Given the description of an element on the screen output the (x, y) to click on. 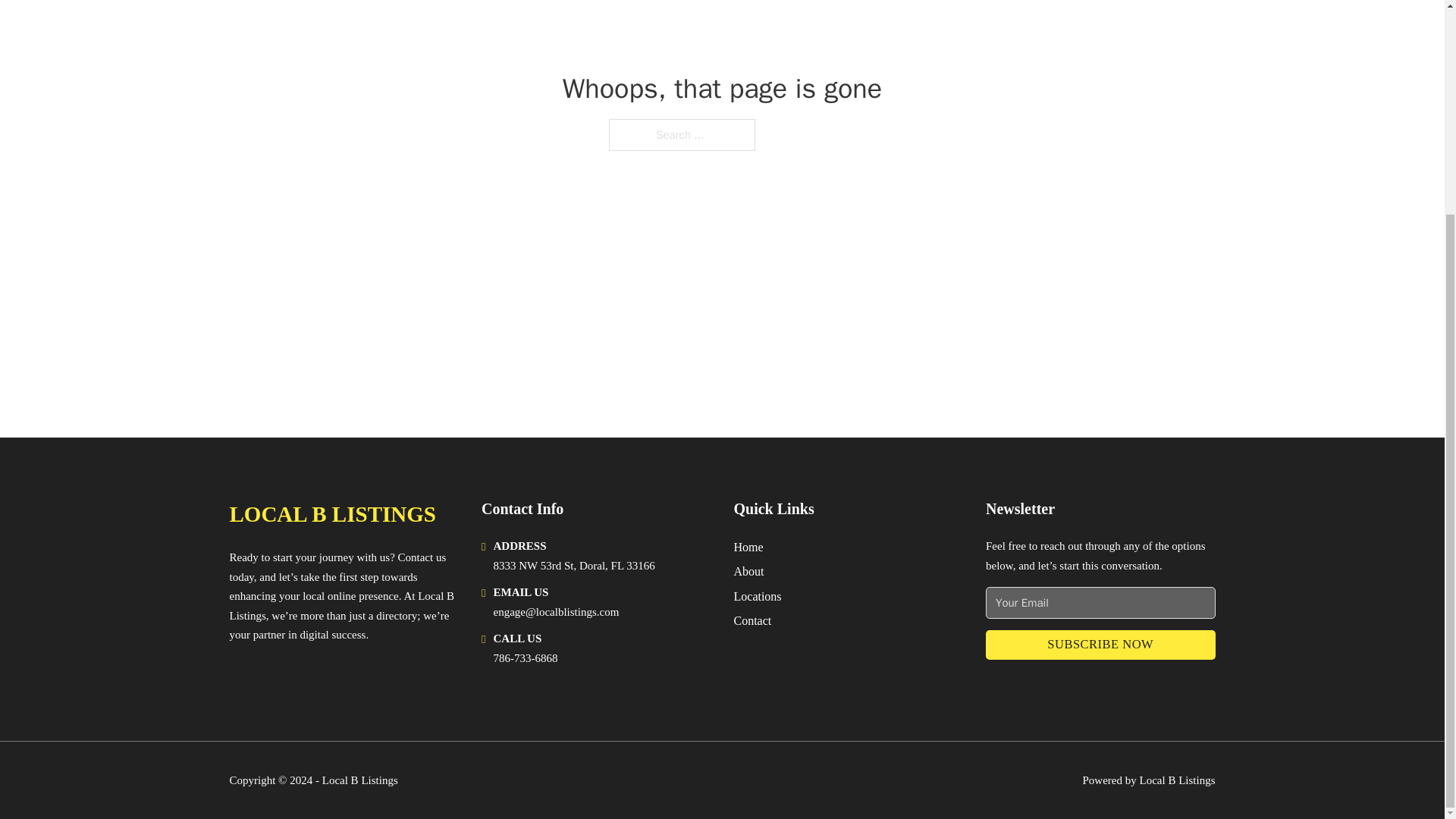
SUBSCRIBE NOW (1100, 644)
About (748, 571)
LOCAL B LISTINGS (331, 514)
Contact (752, 620)
786-733-6868 (525, 657)
Locations (757, 596)
Home (747, 547)
